Given the description of an element on the screen output the (x, y) to click on. 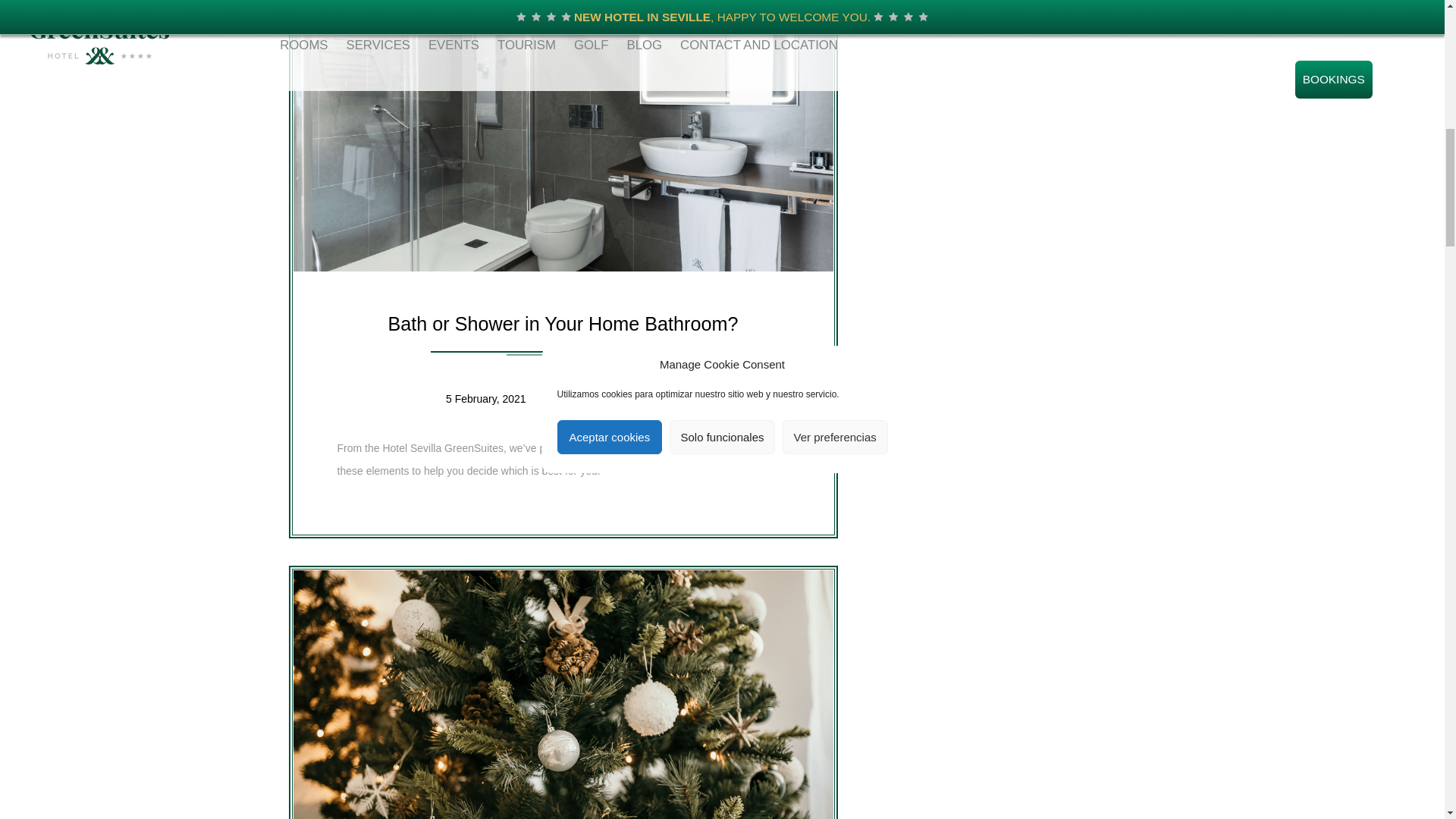
Gestores GreenSuites S.L (617, 398)
Bath or Shower in Your Home Bathroom? (562, 323)
5 February, 2021 (485, 398)
